Given the description of an element on the screen output the (x, y) to click on. 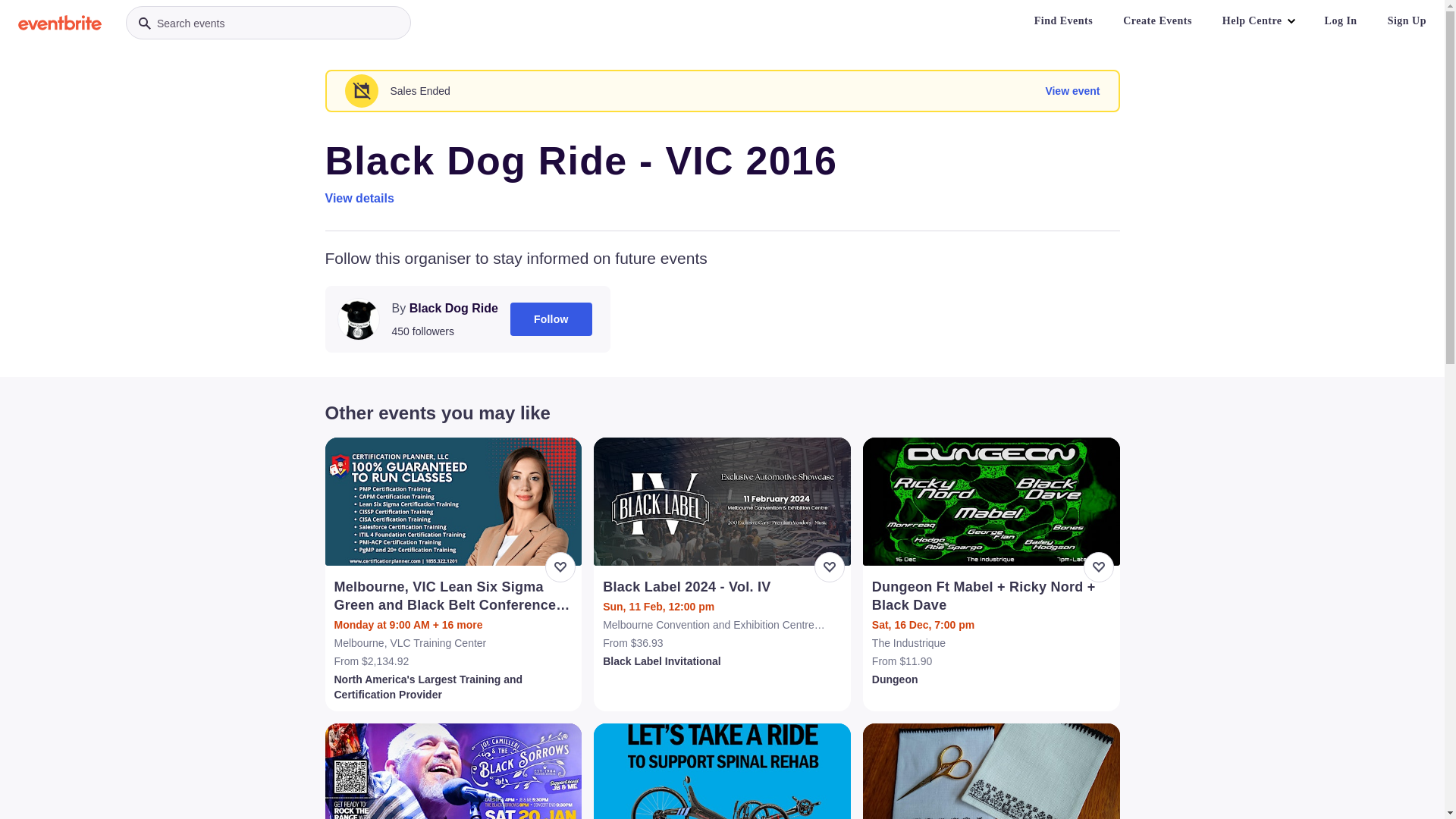
Sign Up Element type: text (1406, 21)
View details Element type: text (358, 198)
Log In Element type: text (1340, 21)
View event Element type: text (1071, 90)
Eventbrite Element type: hover (59, 22)
Find Events Element type: text (1063, 21)
Create Events Element type: text (1157, 21)
Dungeon Ft Mabel + Ricky Nord + Black Dave Element type: text (992, 595)
Follow Element type: text (551, 318)
Search events Element type: text (268, 22)
Black Label 2024 - Vol. IV Element type: text (723, 586)
